Given the description of an element on the screen output the (x, y) to click on. 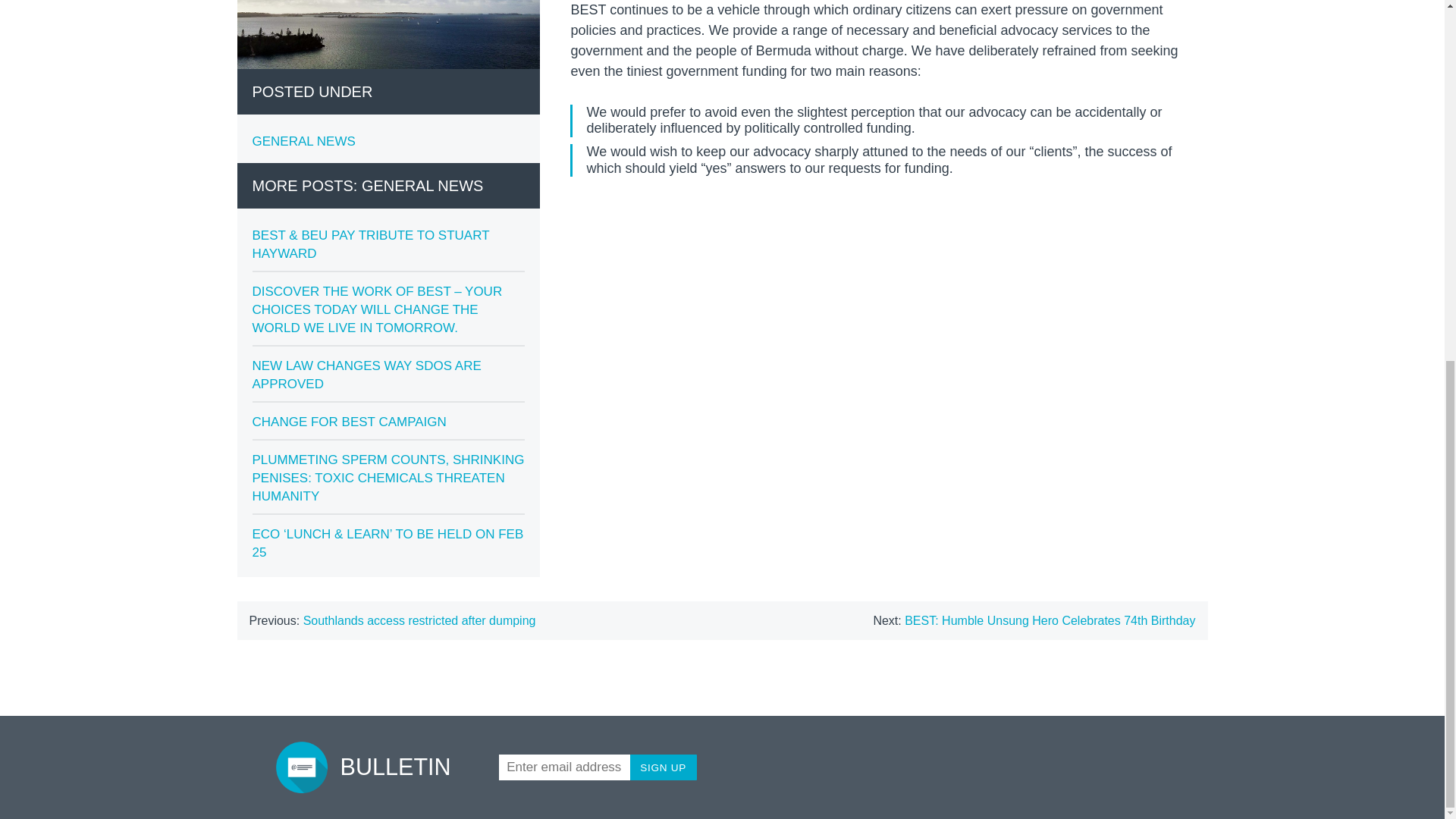
NEW LAW CHANGES WAY SDOS ARE APPROVED (365, 374)
SIGN UP (663, 767)
View full image (387, 34)
Southlands access restricted after dumping (418, 620)
BEST: Humble Unsung Hero Celebrates 74th Birthday (1049, 620)
CHANGE FOR BEST CAMPAIGN (348, 421)
GENERAL NEWS (303, 141)
